Given the description of an element on the screen output the (x, y) to click on. 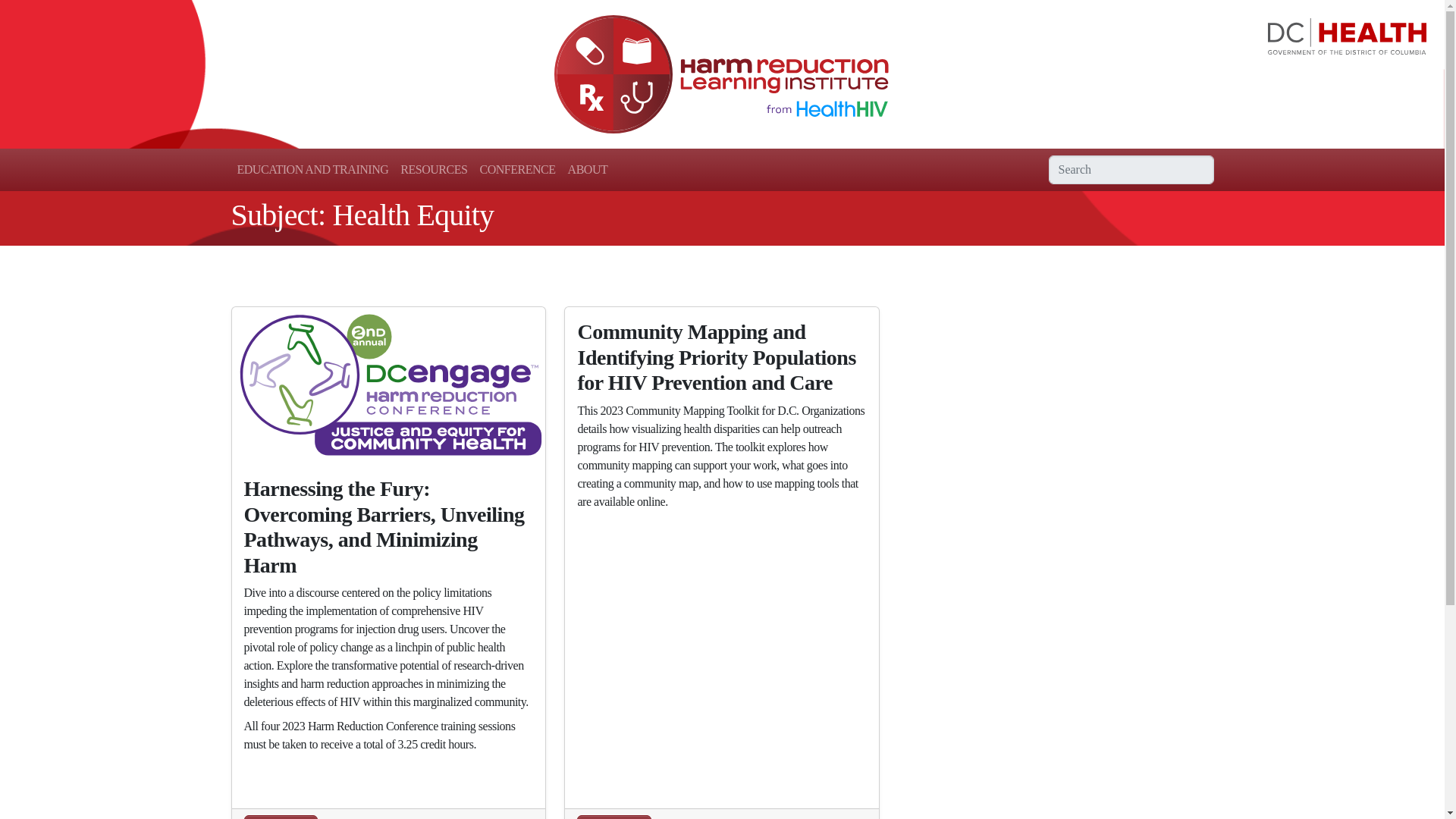
Learn More (613, 816)
ABOUT (588, 169)
EDUCATION AND TRAINING (312, 169)
Learn More (280, 816)
CONFERENCE (516, 169)
RESOURCES (433, 169)
